Given the description of an element on the screen output the (x, y) to click on. 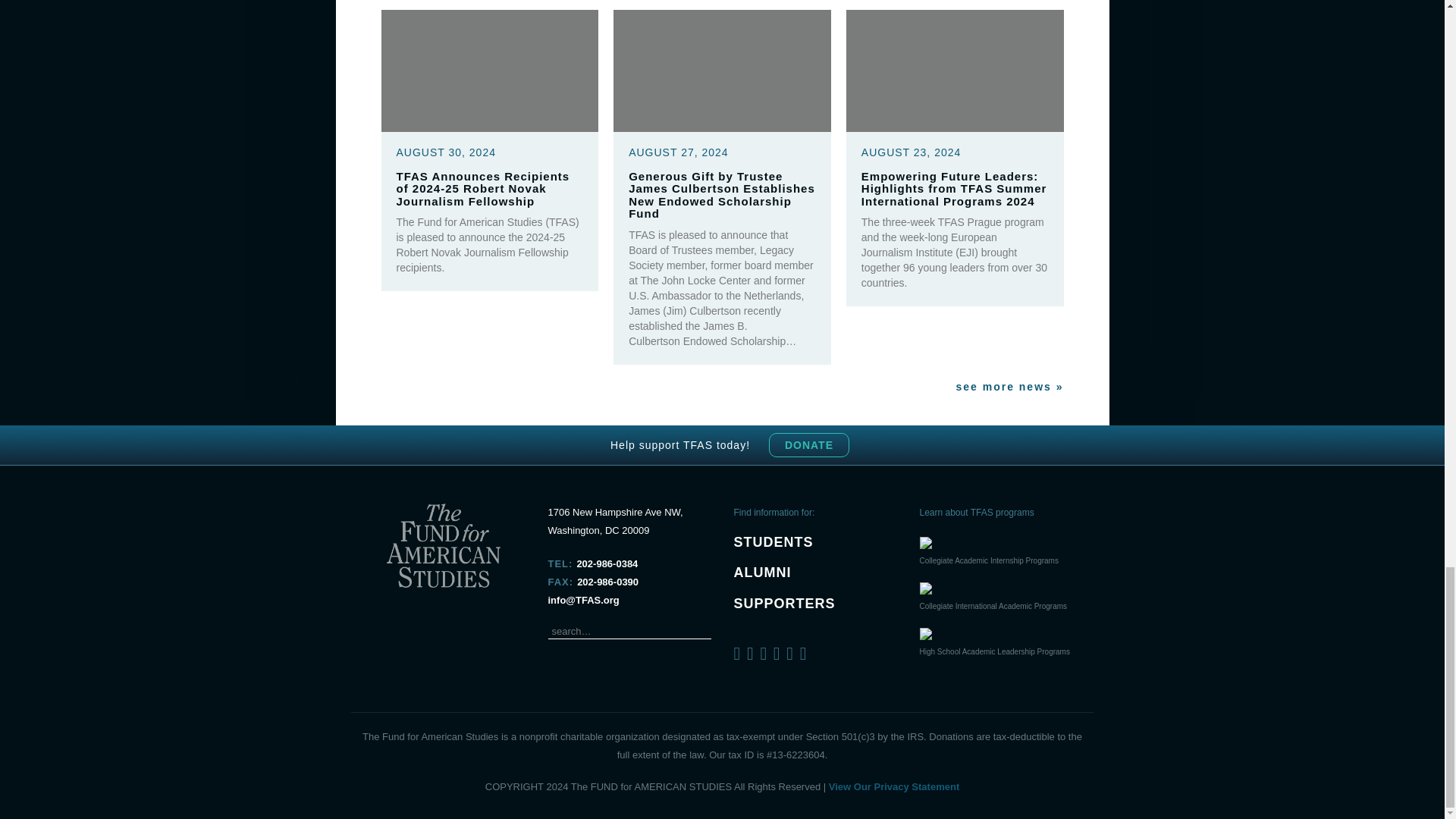
Donate (808, 445)
Donate (808, 445)
STUDENTS (773, 541)
